Given the description of an element on the screen output the (x, y) to click on. 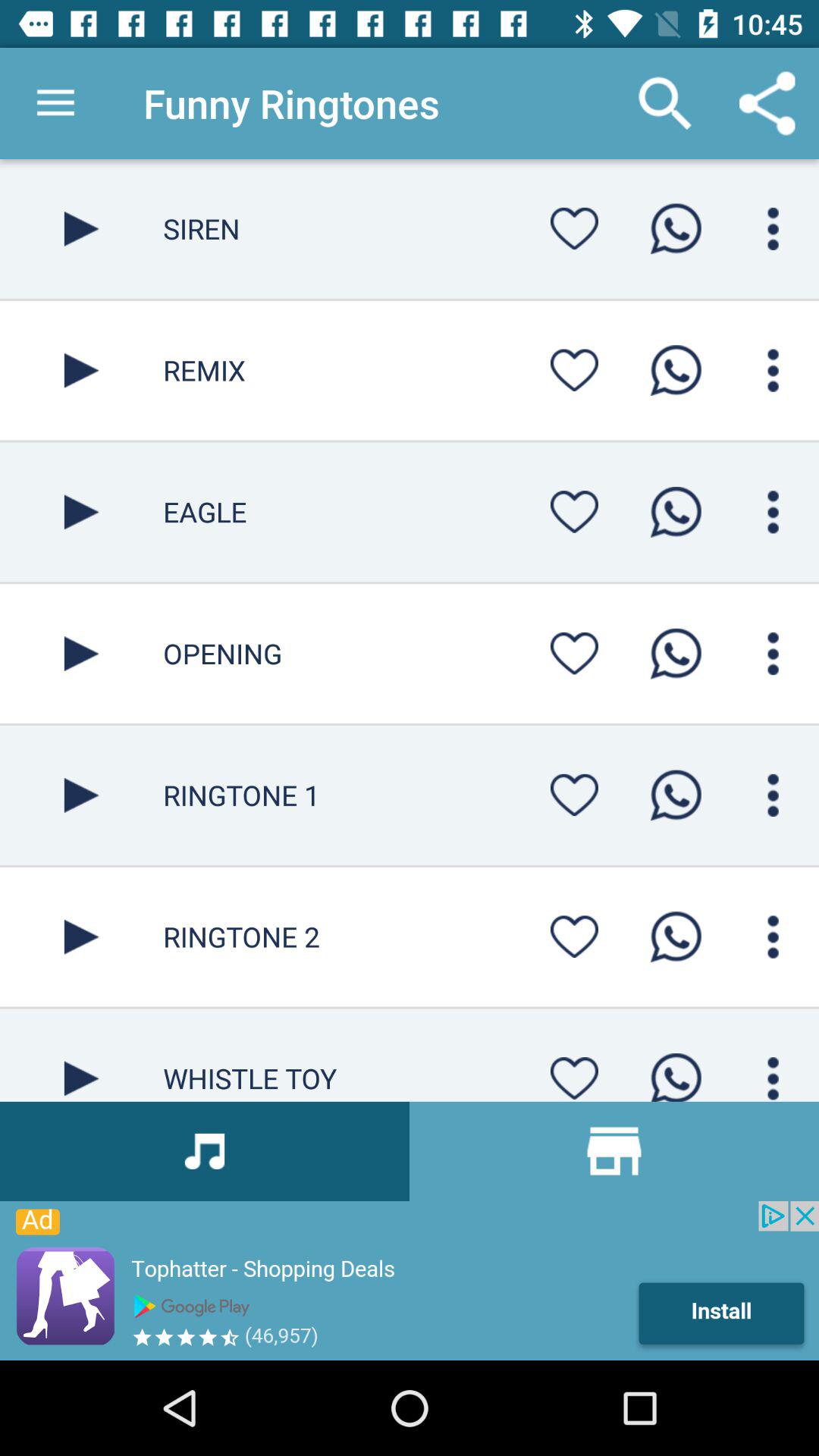
add ringtone (675, 1072)
